Given the description of an element on the screen output the (x, y) to click on. 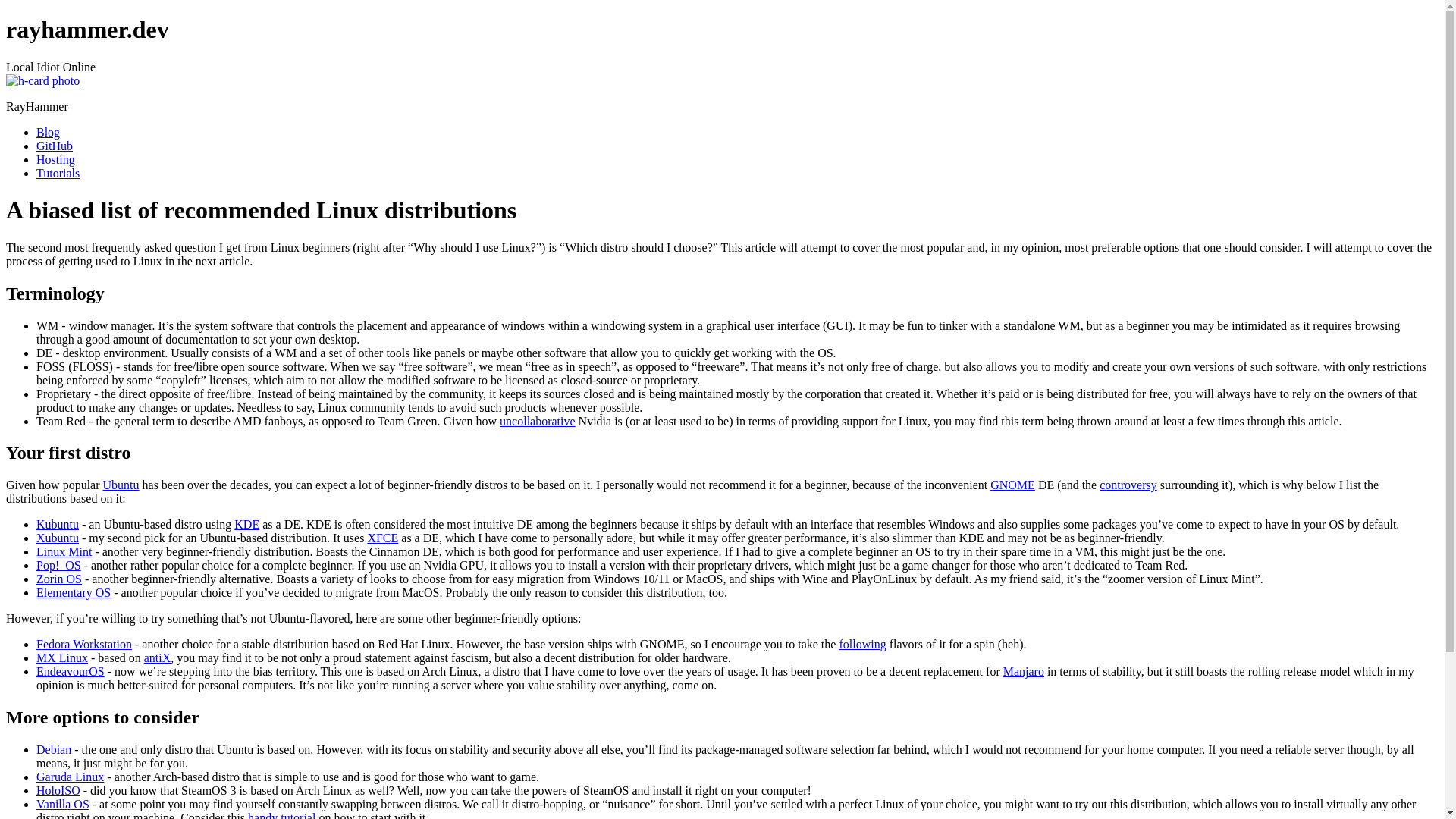
Zorin OS (58, 578)
Fedora Workstation (84, 644)
Hosting (55, 159)
Xubuntu (57, 537)
Debian (53, 748)
following (861, 644)
GitHub (54, 145)
uncollaborative (537, 420)
Ubuntu (121, 484)
Kubuntu (57, 523)
